Given the description of an element on the screen output the (x, y) to click on. 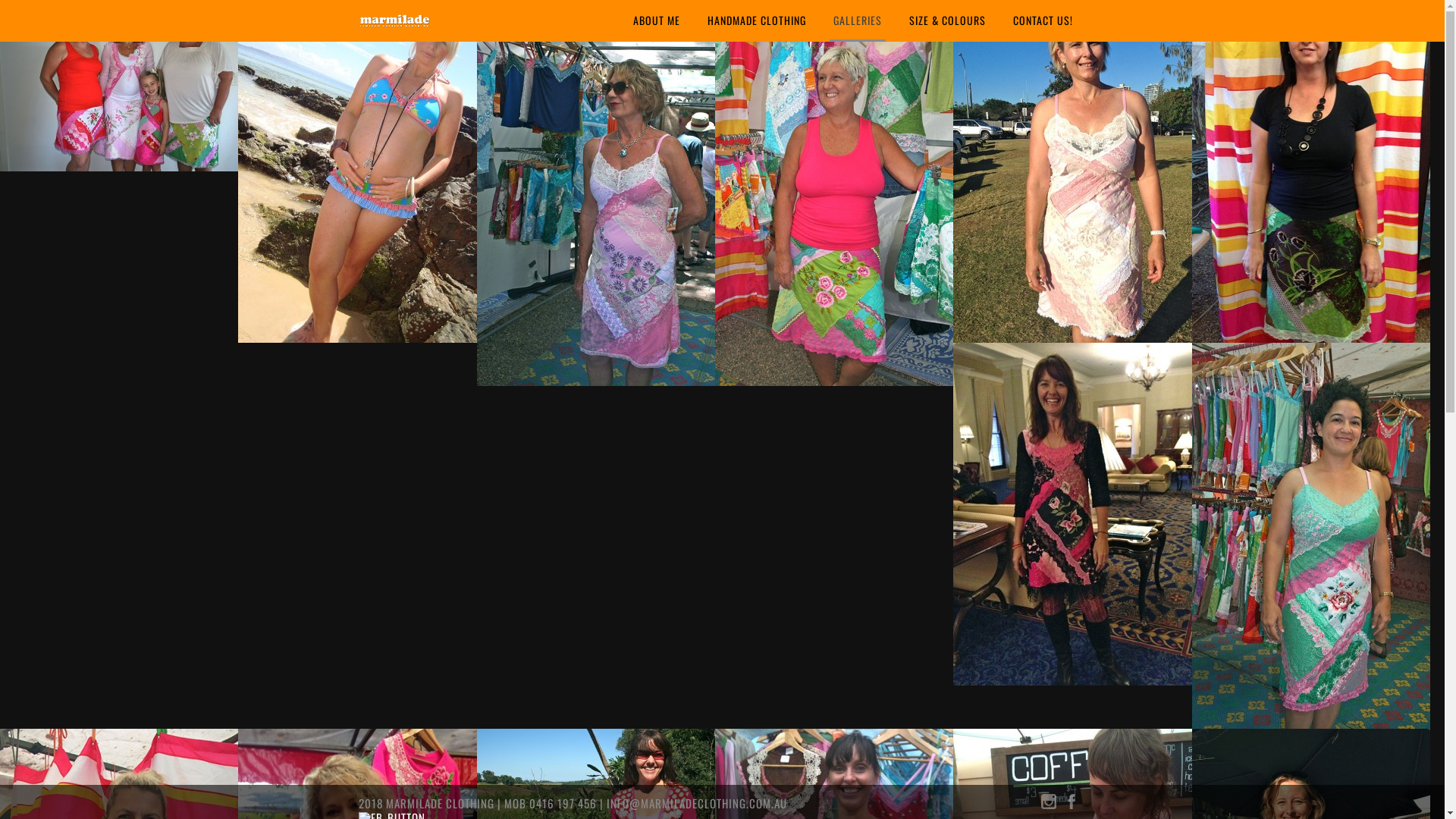
Facebook Element type: hover (1070, 804)
GALLERIES Element type: text (857, 20)
SIZE & COLOURS Element type: text (947, 20)
HANDMADE CLOTHING Element type: text (756, 20)
CONTACT US! Element type: text (1042, 20)
ABOUT ME Element type: text (656, 20)
Instagram Element type: hover (1047, 804)
